Given the description of an element on the screen output the (x, y) to click on. 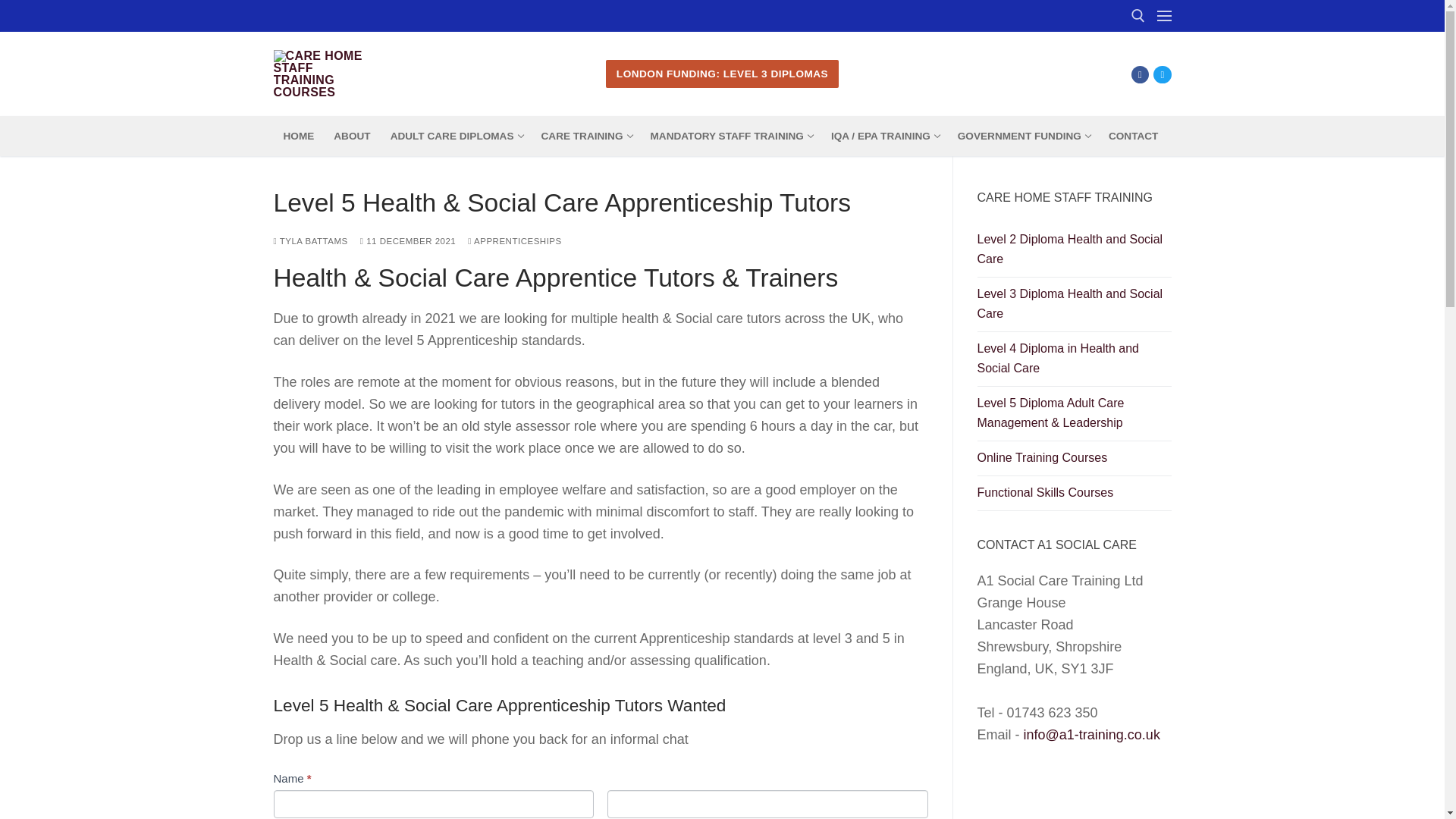
11 DECEMBER 2021 (455, 136)
APPRENTICESHIPS (408, 240)
LONDON FUNDING: LEVEL 3 DIPLOMAS (513, 240)
ABOUT (721, 73)
CONTACT (351, 136)
HOME (1133, 136)
TYLA BATTAMS (298, 136)
Facebook (310, 240)
Twitter (1139, 74)
